Given the description of an element on the screen output the (x, y) to click on. 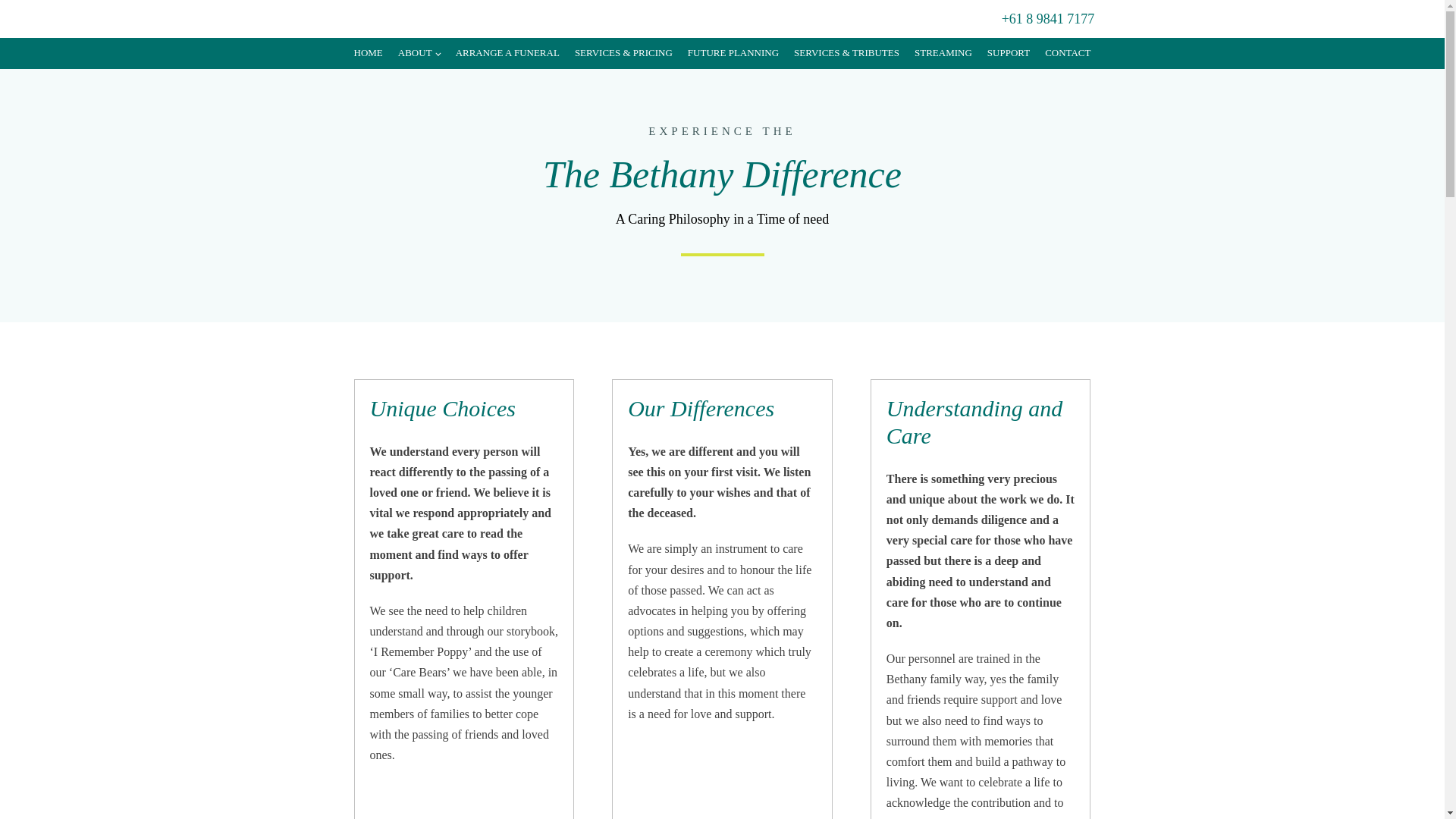
HOME (368, 52)
ARRANGE A FUNERAL (507, 52)
STREAMING (943, 52)
SUPPORT (1007, 52)
ABOUT (419, 52)
CONTACT (1066, 52)
FUTURE PLANNING (732, 52)
